Given the description of an element on the screen output the (x, y) to click on. 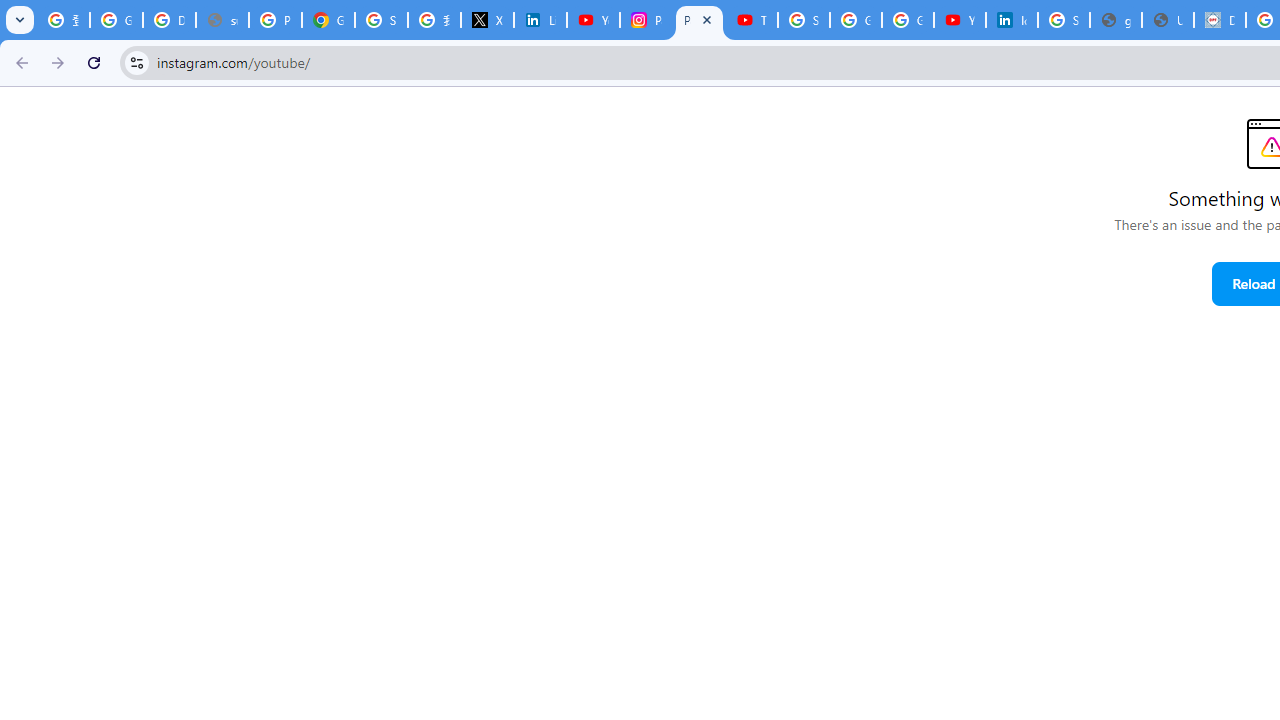
support.google.com - Network error (222, 20)
